Given the description of an element on the screen output the (x, y) to click on. 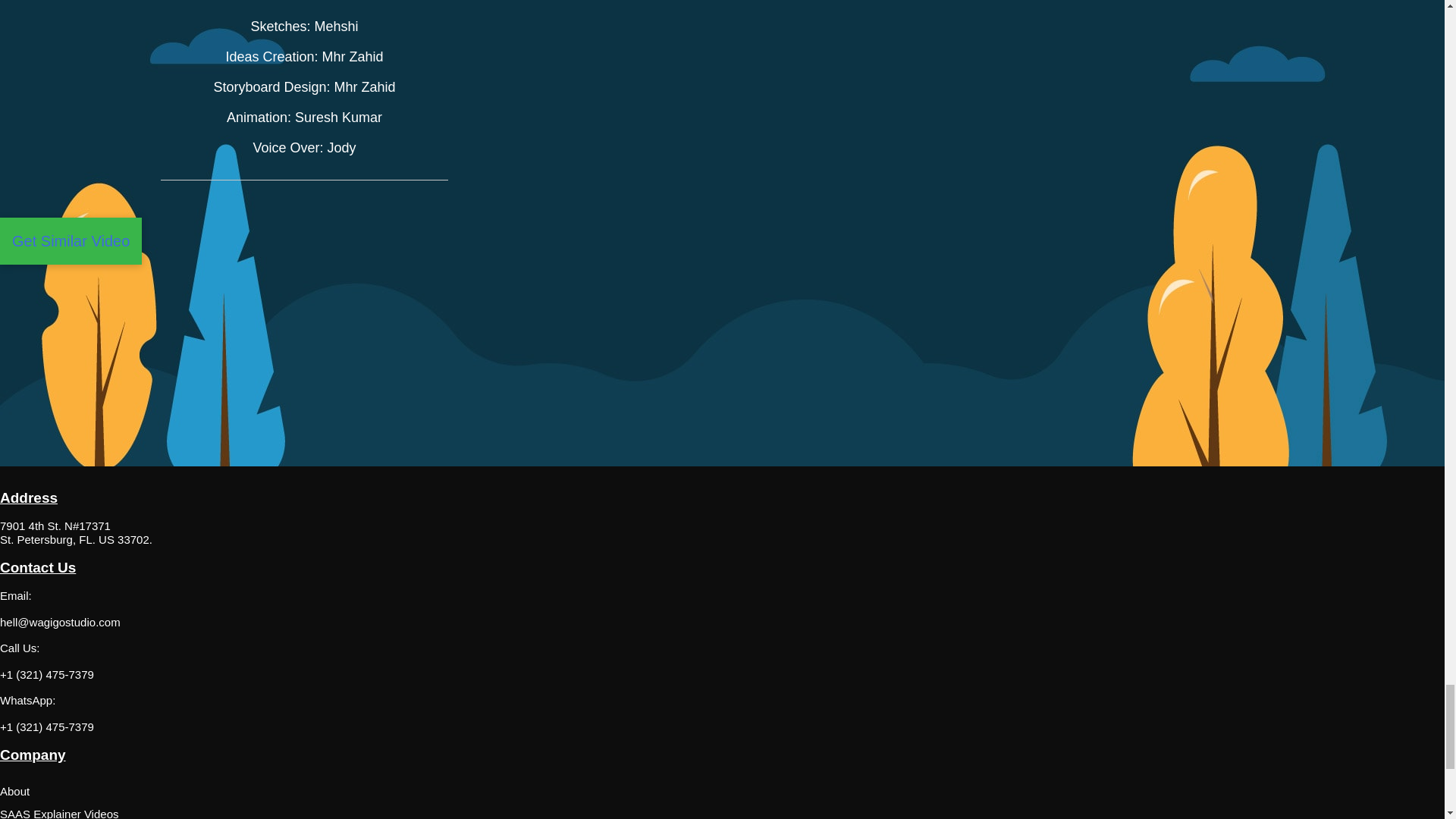
SAAS Explainer Videos (473, 811)
About (473, 791)
Get Similar Video (70, 240)
